Given the description of an element on the screen output the (x, y) to click on. 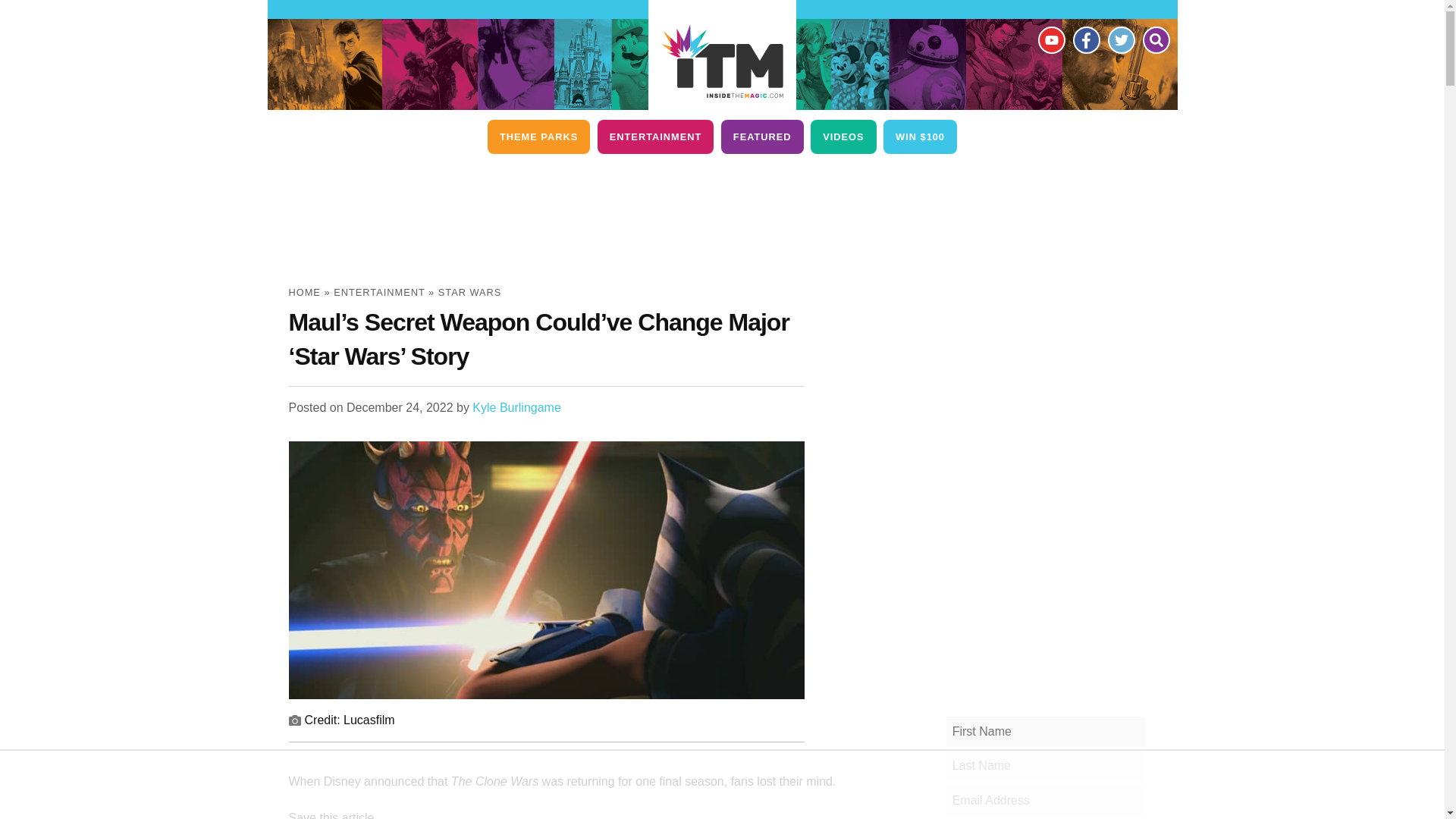
Twitter (1120, 40)
Facebook (1085, 40)
ENTERTAINMENT (655, 136)
YouTube (1050, 40)
FEATURED (761, 136)
Search (1155, 40)
THEME PARKS (538, 136)
